Given the description of an element on the screen output the (x, y) to click on. 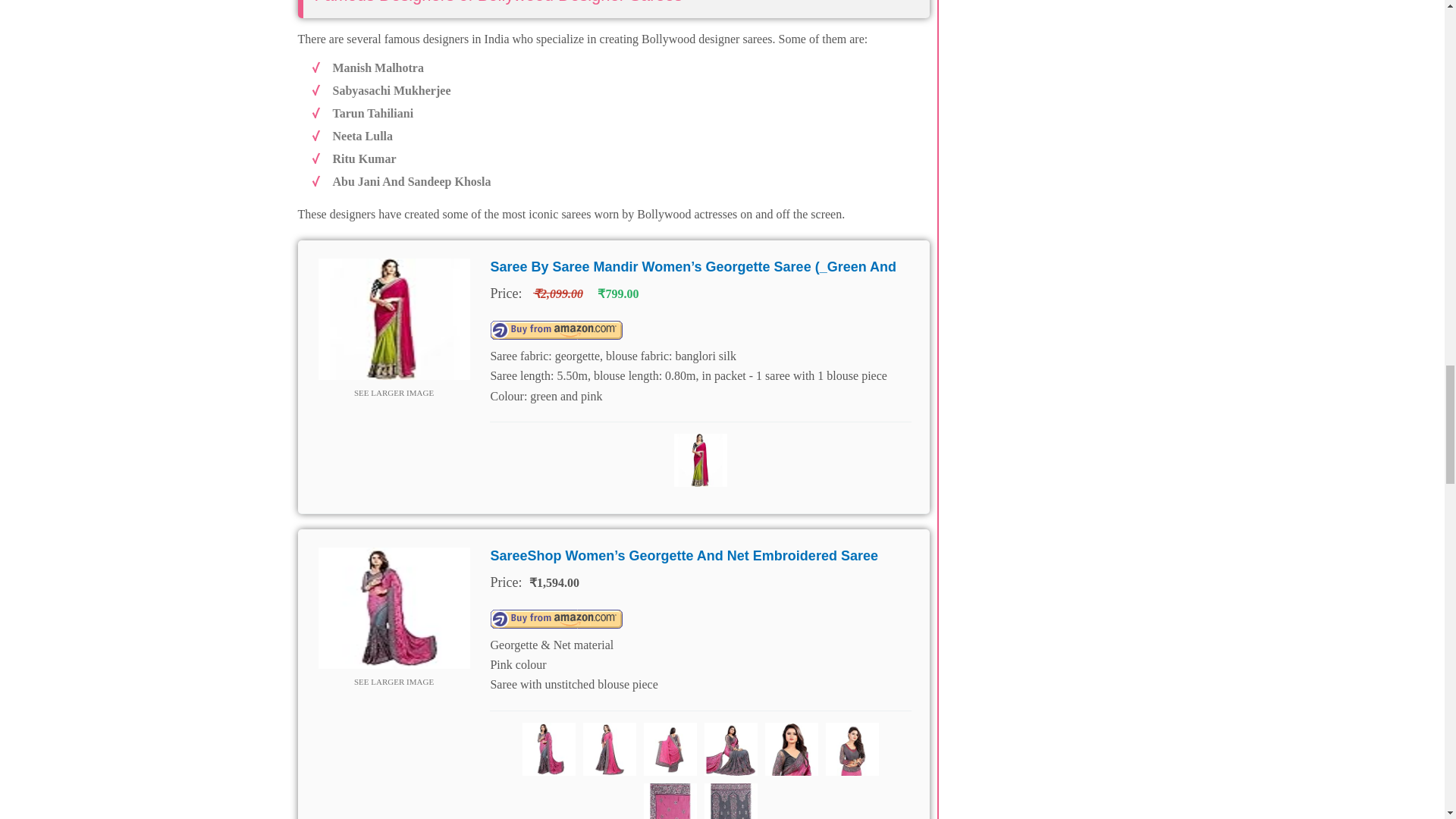
Buy Now (556, 330)
SEE LARGER IMAGE (393, 681)
SEE LARGER IMAGE (393, 392)
Buy Now (556, 619)
